Given the description of an element on the screen output the (x, y) to click on. 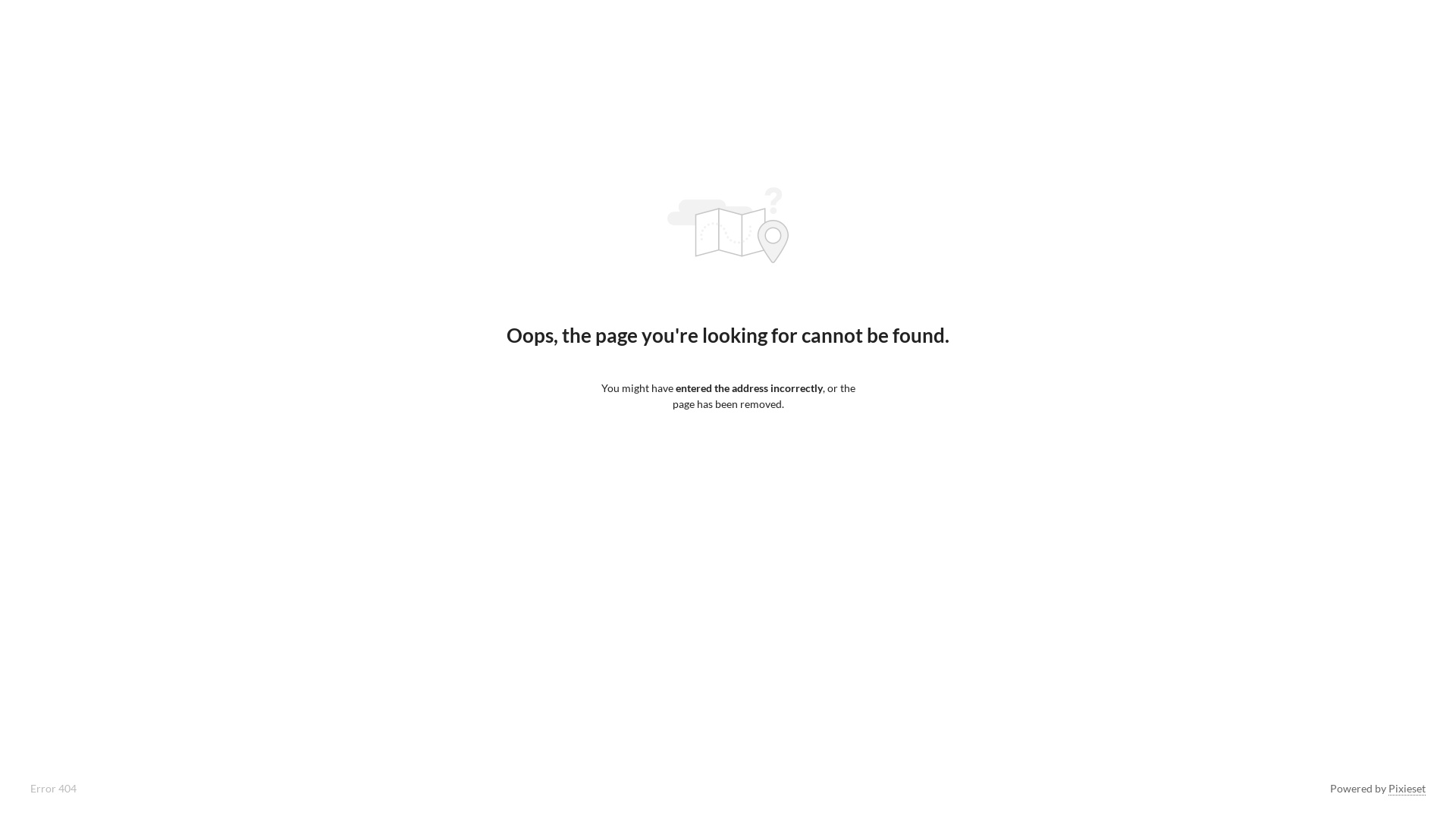
Pixieset Element type: text (1406, 788)
